Given the description of an element on the screen output the (x, y) to click on. 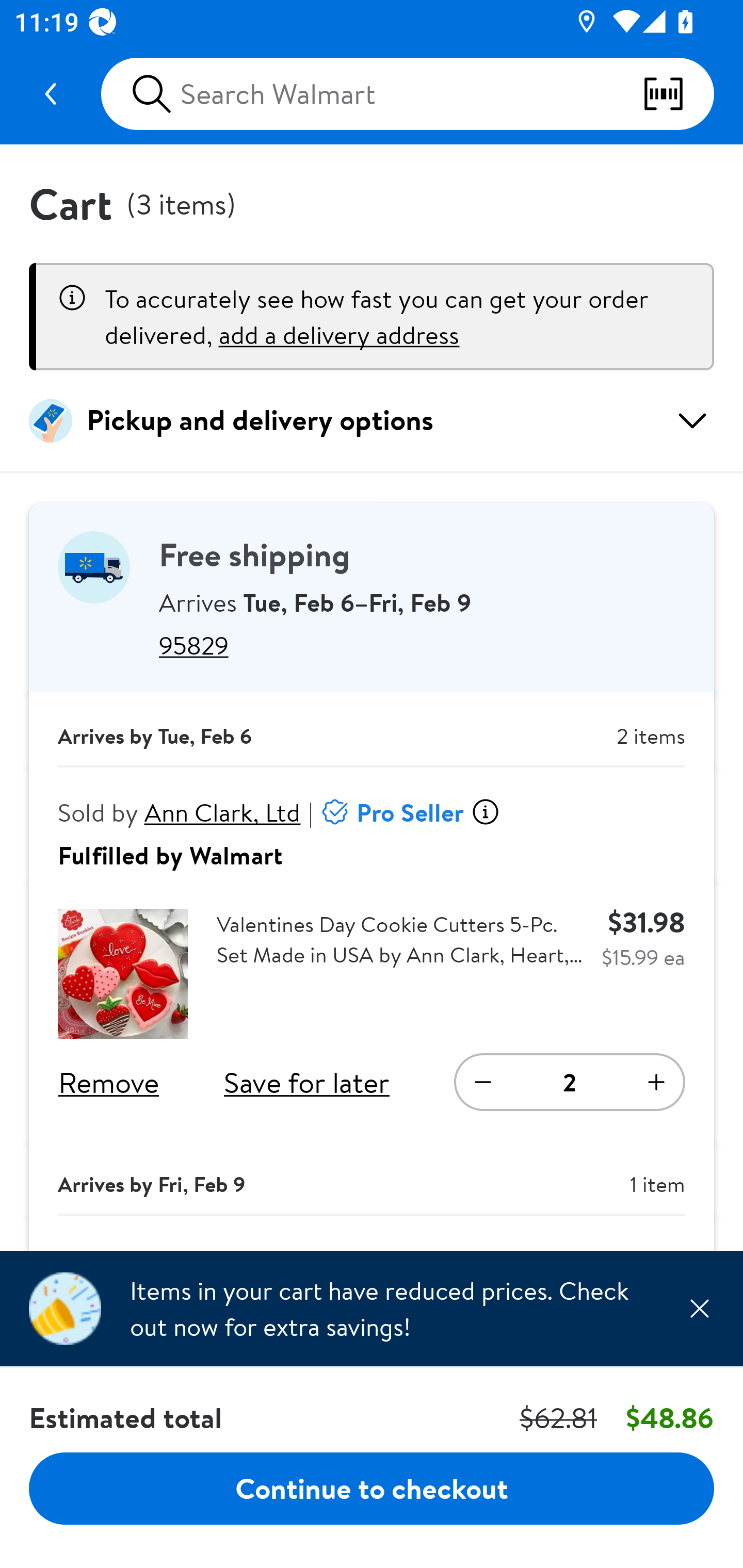
Navigate up (50, 93)
Search Walmart Opens barcode scanner (407, 94)
Opens barcode scanner (677, 94)
95829 (422, 645)
Sold by Ann Clark, Ltd (178, 811)
Info for Pro Seller (485, 812)
Item image (122, 973)
Close (699, 1308)
Continue to checkout (371, 1487)
